Given the description of an element on the screen output the (x, y) to click on. 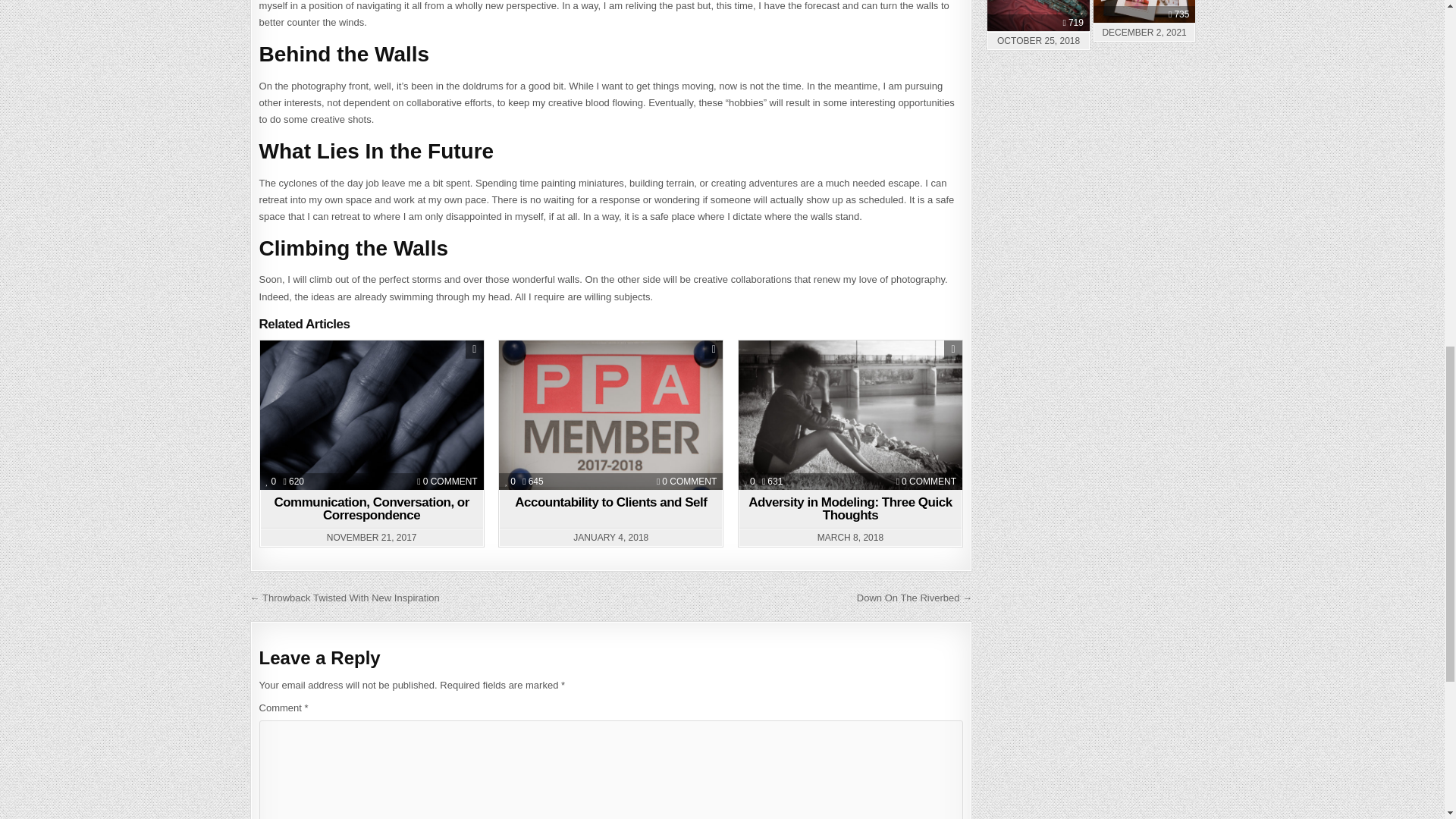
0 (510, 481)
0 (271, 481)
Like this (271, 481)
620 Views (293, 481)
Communication, Conversation, or Correspondence (450, 481)
